Given the description of an element on the screen output the (x, y) to click on. 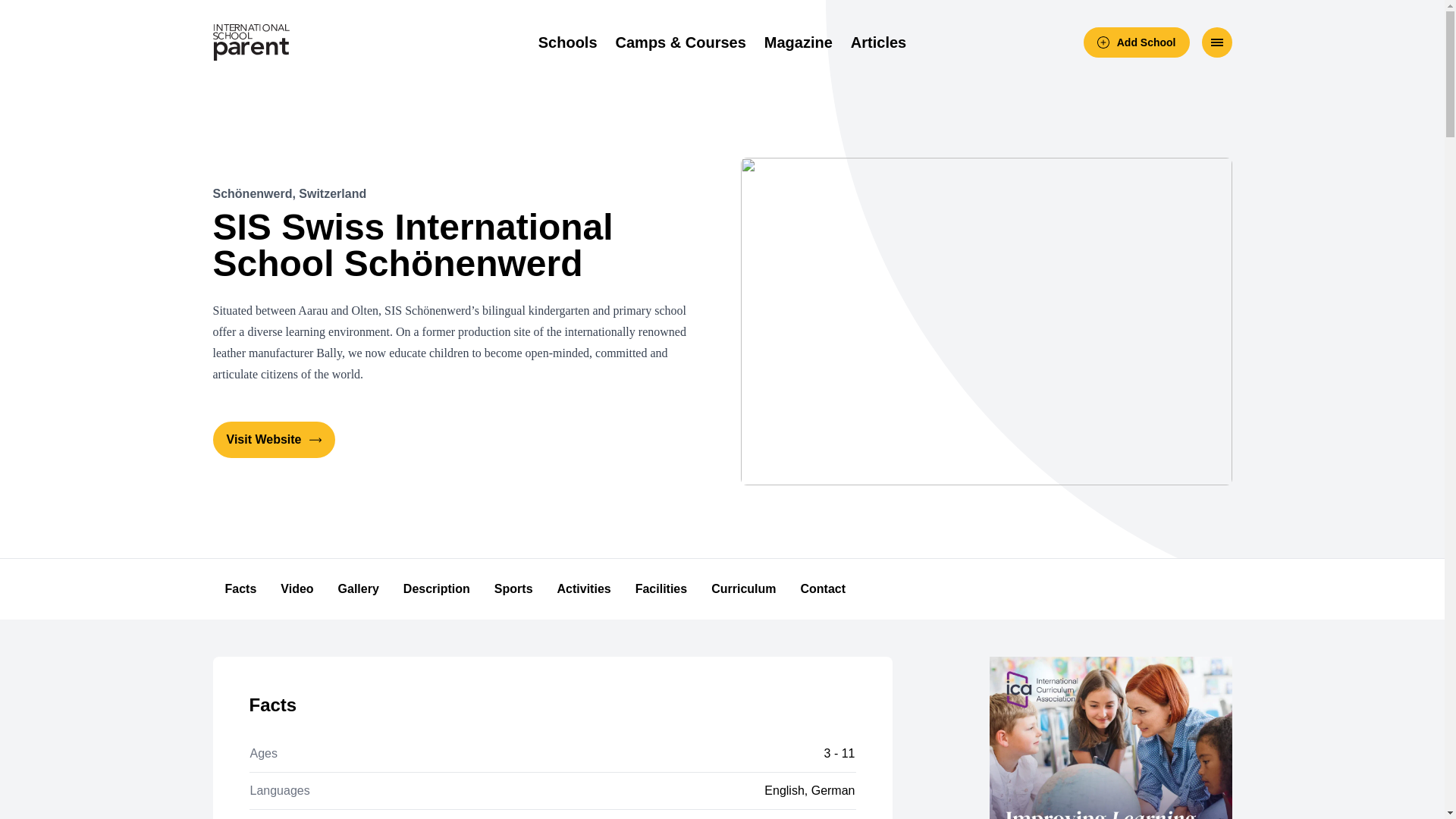
Description (436, 588)
Video (295, 588)
Curriculum (742, 588)
Sports (512, 588)
Facts (239, 588)
Activities (583, 588)
Facilities (660, 588)
Visit Website (273, 439)
Gallery (358, 588)
Add School (1136, 42)
Description (436, 588)
Activities (583, 588)
Video (295, 588)
Schools (567, 42)
